Given the description of an element on the screen output the (x, y) to click on. 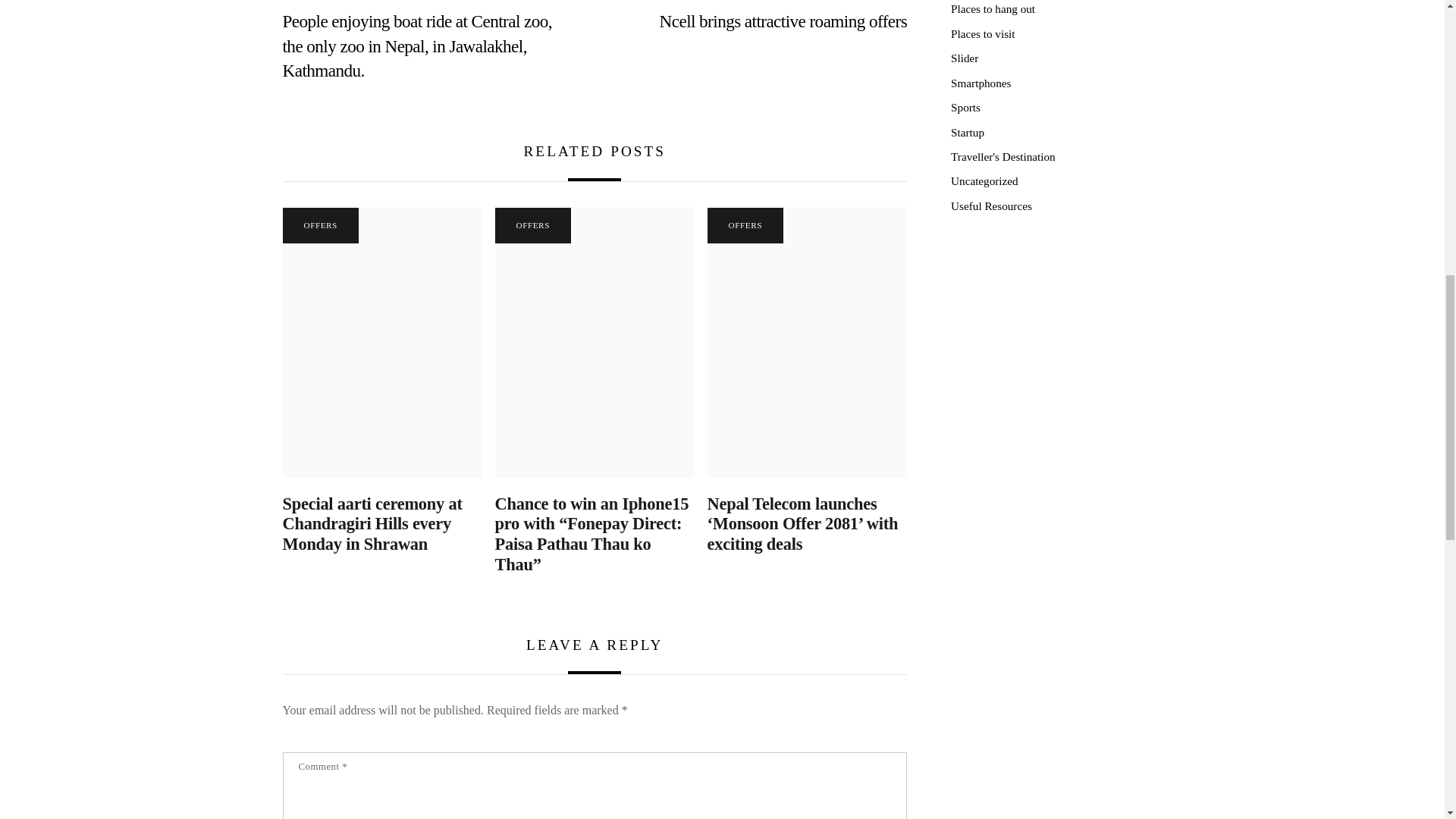
OFFERS (532, 225)
OFFERS (745, 225)
OFFERS (320, 225)
Ncell brings attractive roaming offers (759, 21)
